Given the description of an element on the screen output the (x, y) to click on. 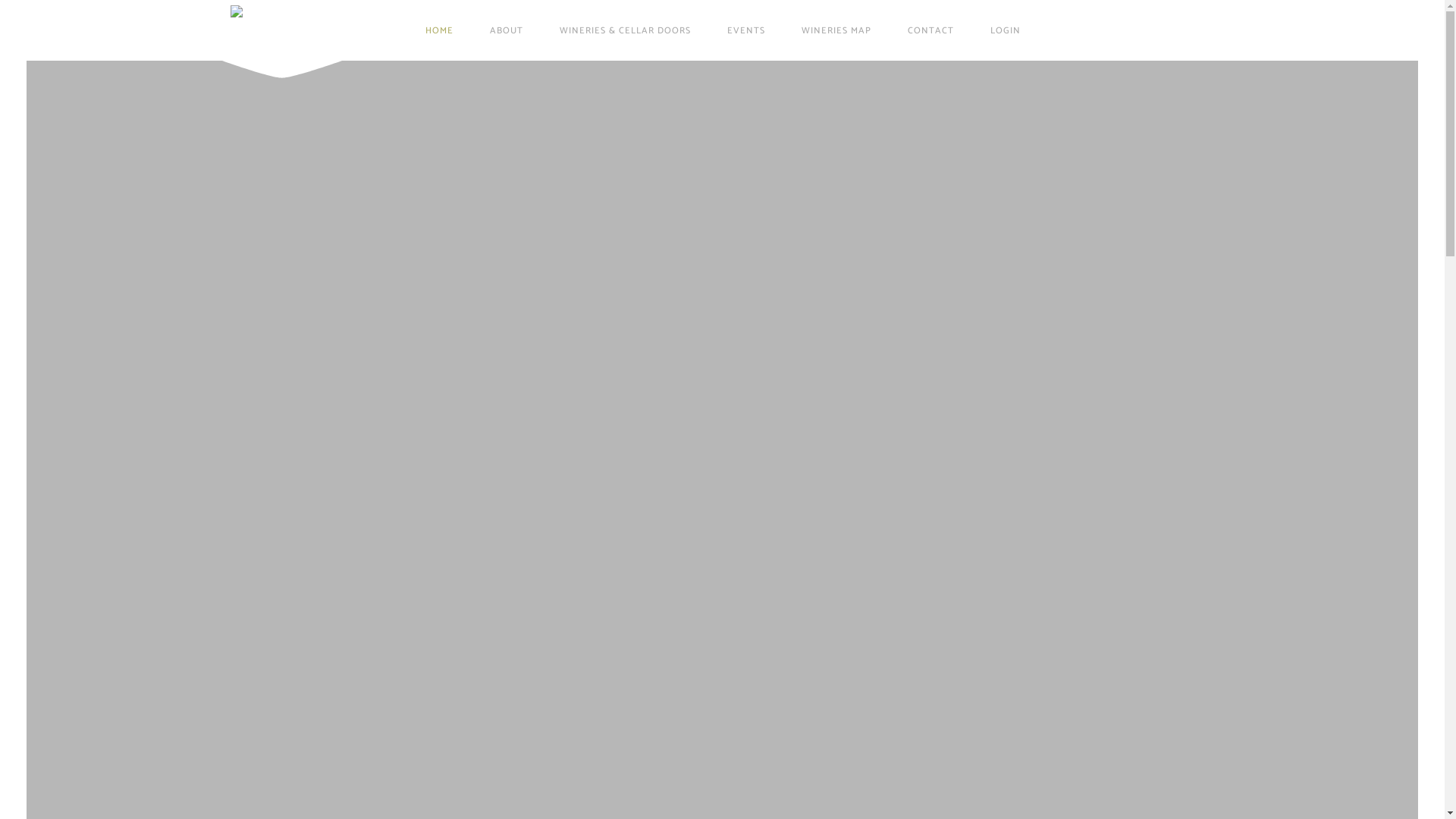
WINERIES MAP Element type: text (836, 29)
EVENTS Element type: text (746, 29)
CONTACT Element type: text (930, 29)
HOME Element type: text (439, 29)
WINERIES & CELLAR DOORS Element type: text (625, 29)
ABOUT Element type: text (506, 29)
LOGIN Element type: text (1005, 29)
